Given the description of an element on the screen output the (x, y) to click on. 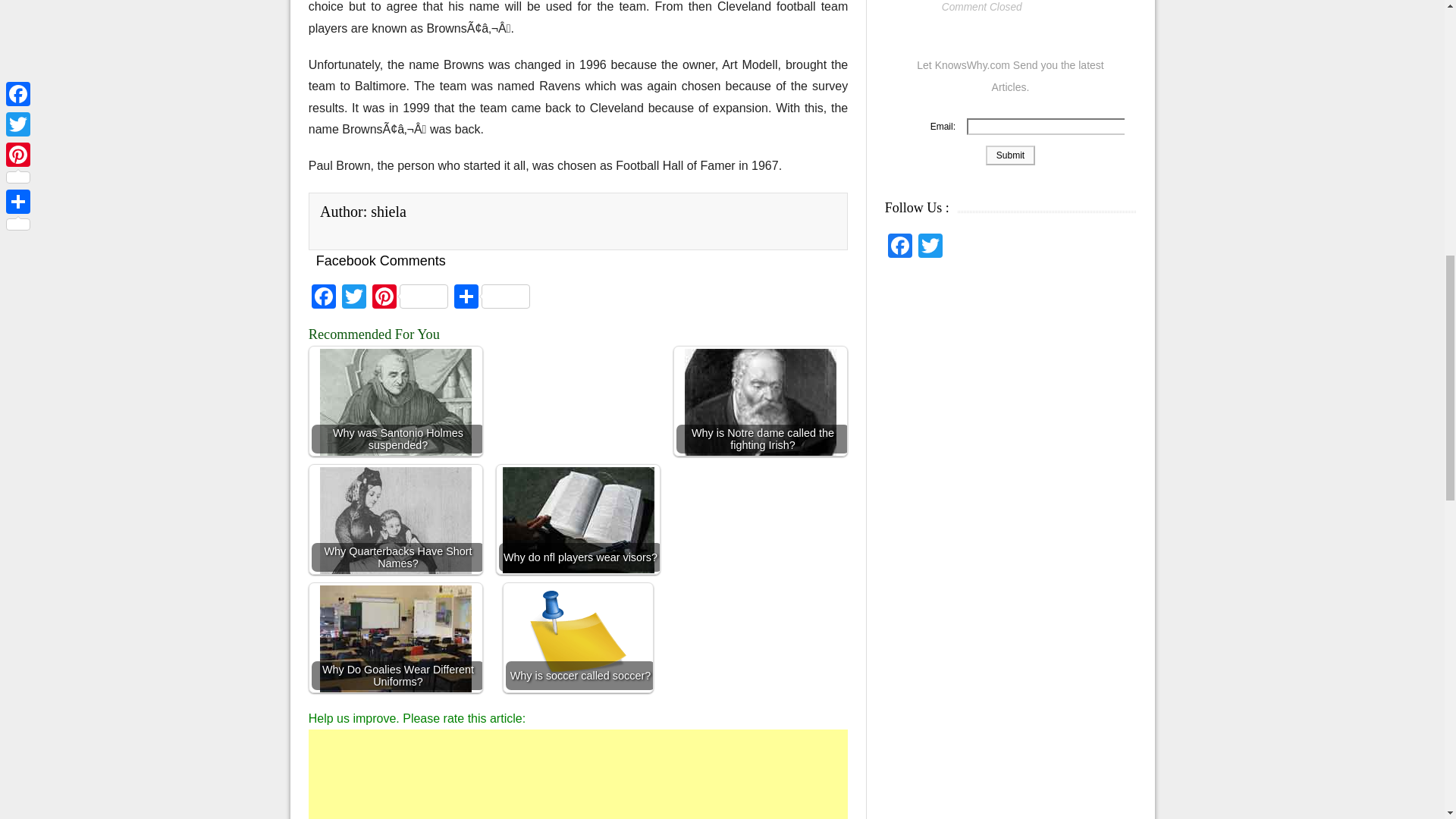
Why was Santonio Holmes suspended? (395, 412)
Why is soccer called soccer? (577, 642)
Advertisement (578, 774)
Submit (1010, 155)
Pinterest (410, 298)
Twitter (354, 298)
Pinterest (410, 298)
Why Quarterbacks Have Short Names? (395, 527)
Why is Notre dame called the fighting Irish? (759, 422)
Why is Notre dame called the fighting Irish? (760, 400)
Why do nfl players wear visors? (577, 519)
Facebook (323, 298)
Why do nfl players wear visors? (577, 519)
Why Do Goalies Wear Different Uniforms? (395, 638)
Share (491, 298)
